Given the description of an element on the screen output the (x, y) to click on. 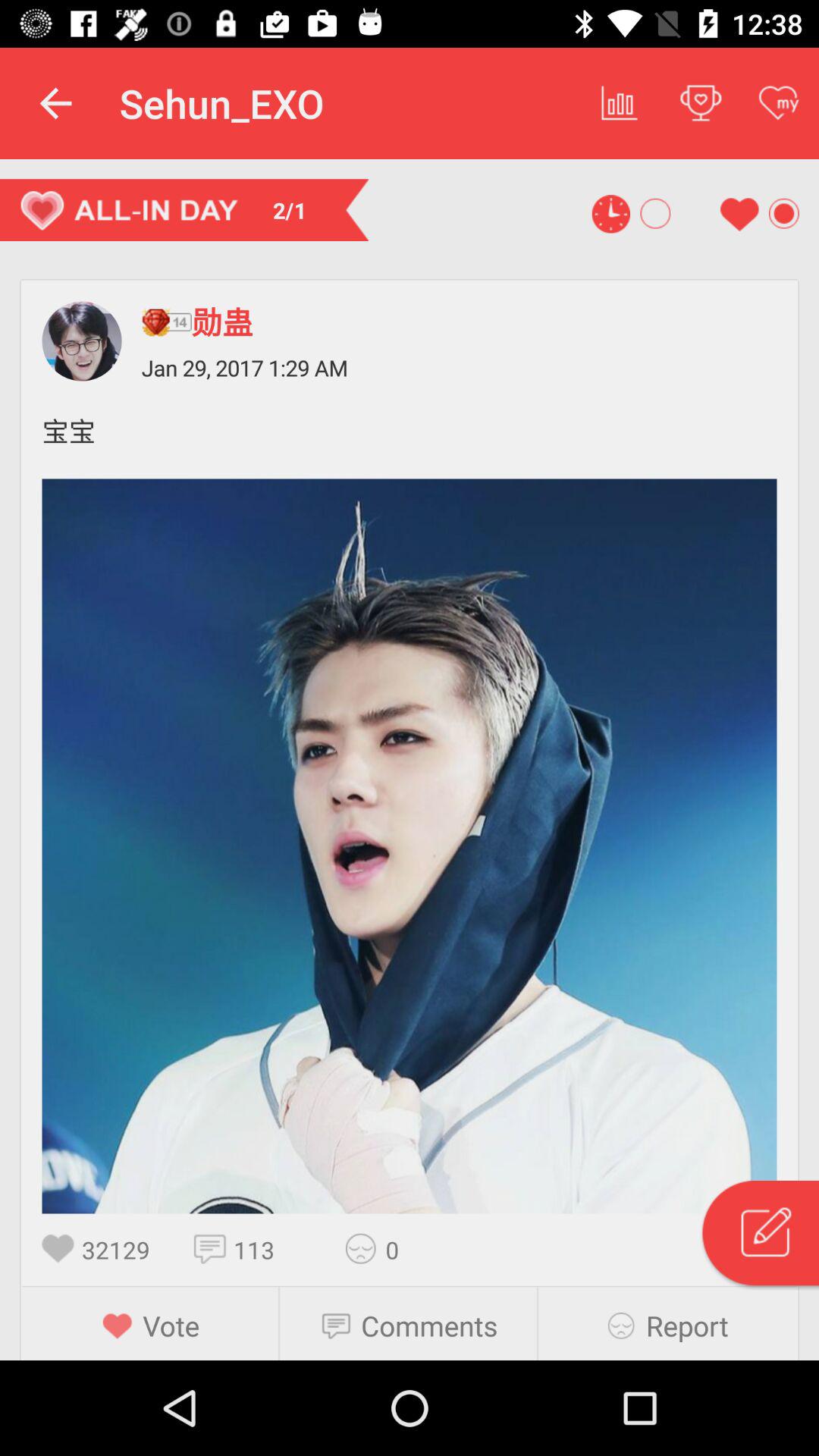
choose item to the left of the 113 (213, 1248)
